Given the description of an element on the screen output the (x, y) to click on. 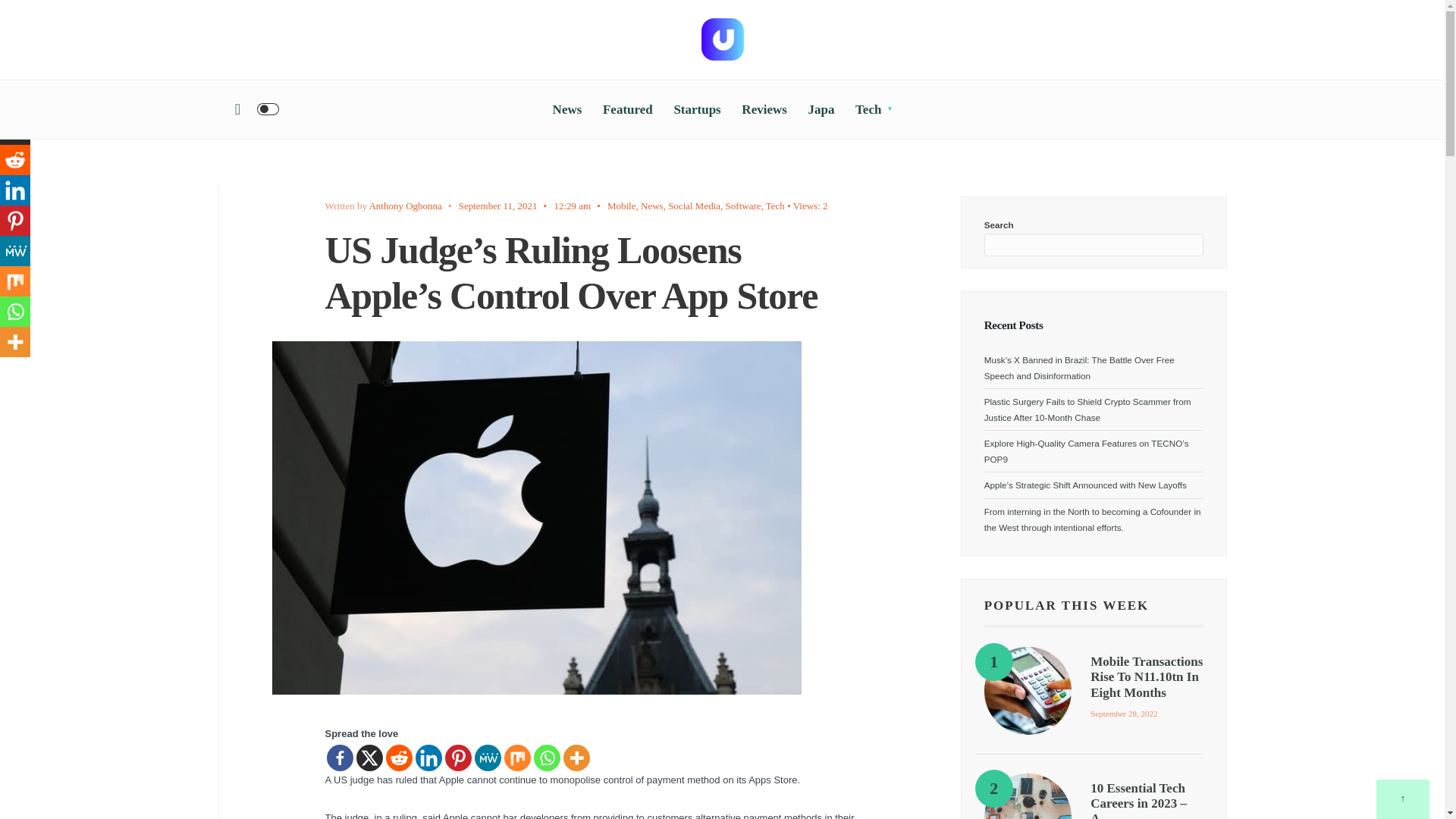
X (15, 129)
Tech (873, 109)
Tech (774, 205)
X (369, 757)
Mobile (621, 205)
Mix (516, 757)
News (651, 205)
Pinterest (457, 757)
Linkedin (428, 757)
Featured (627, 109)
